Given the description of an element on the screen output the (x, y) to click on. 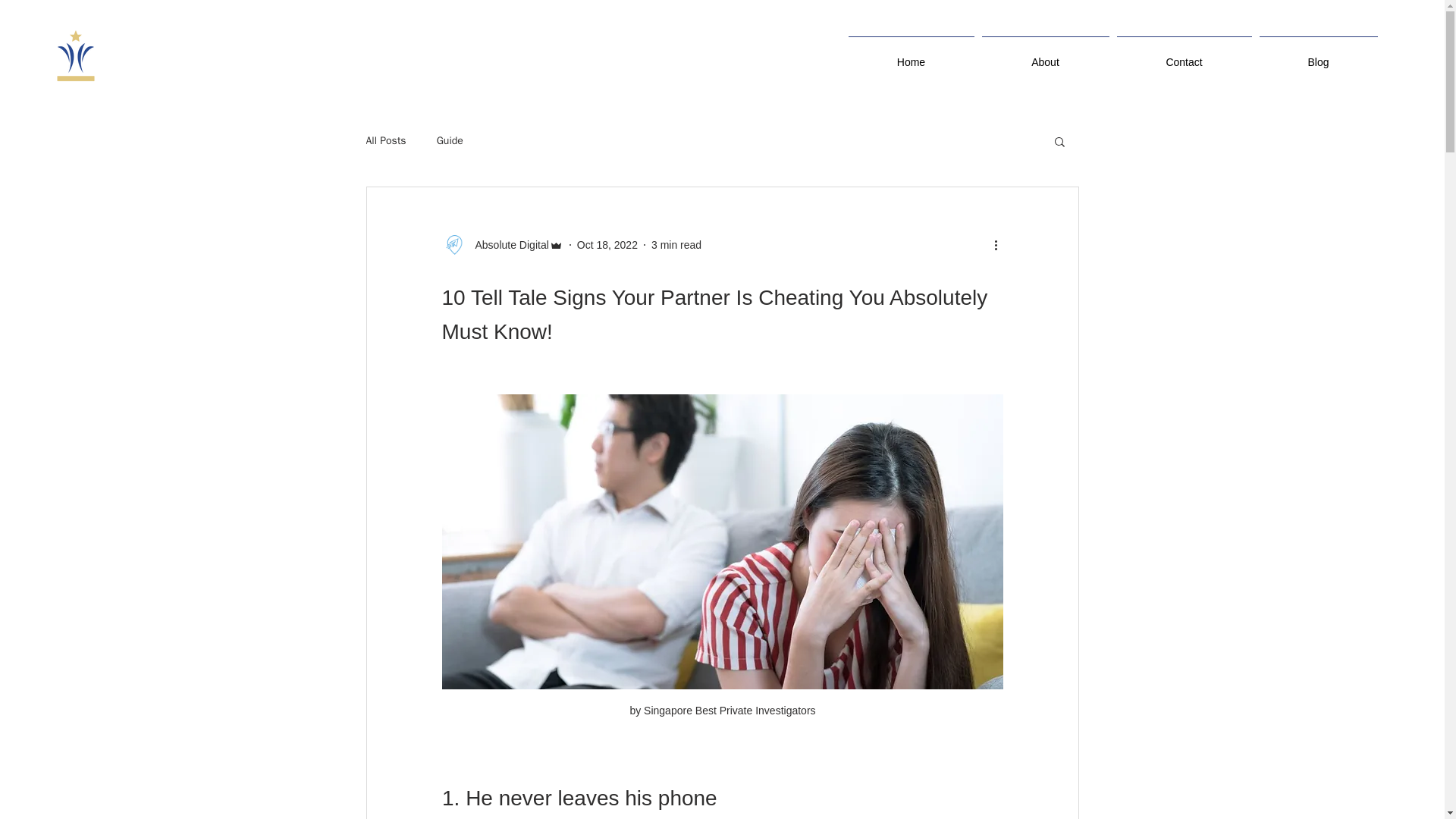
About (1045, 55)
Contact (1184, 55)
All Posts (385, 141)
Blog (1318, 55)
Guide (449, 141)
3 min read (675, 244)
Home (911, 55)
Absolute Digital (501, 244)
Absolute Digital (506, 244)
